Given the description of an element on the screen output the (x, y) to click on. 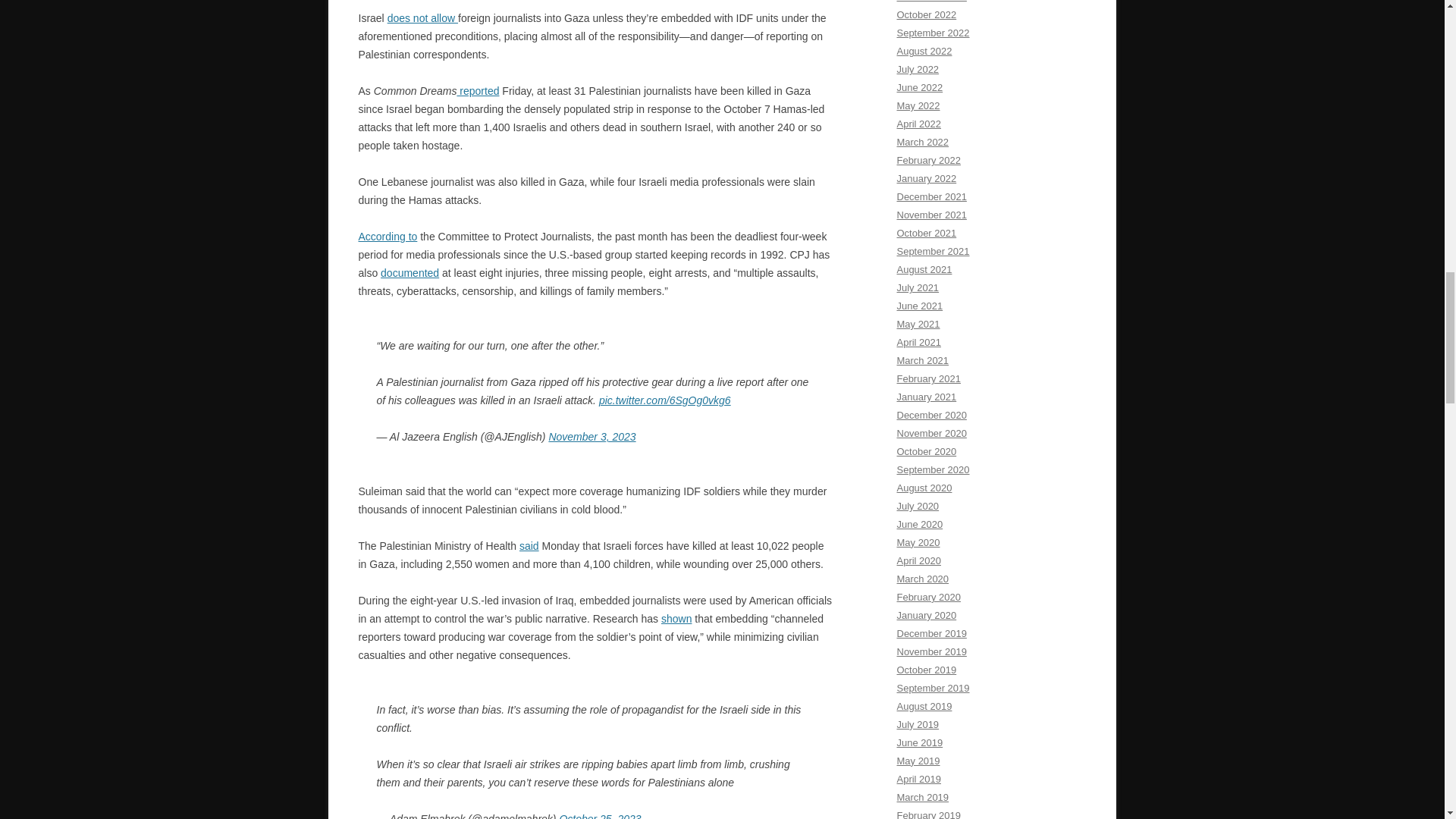
reported (478, 91)
documented (409, 272)
According to (387, 236)
said (528, 545)
does not allow  (422, 18)
shown (676, 618)
October 25, 2023 (599, 816)
November 3, 2023 (591, 436)
